Given the description of an element on the screen output the (x, y) to click on. 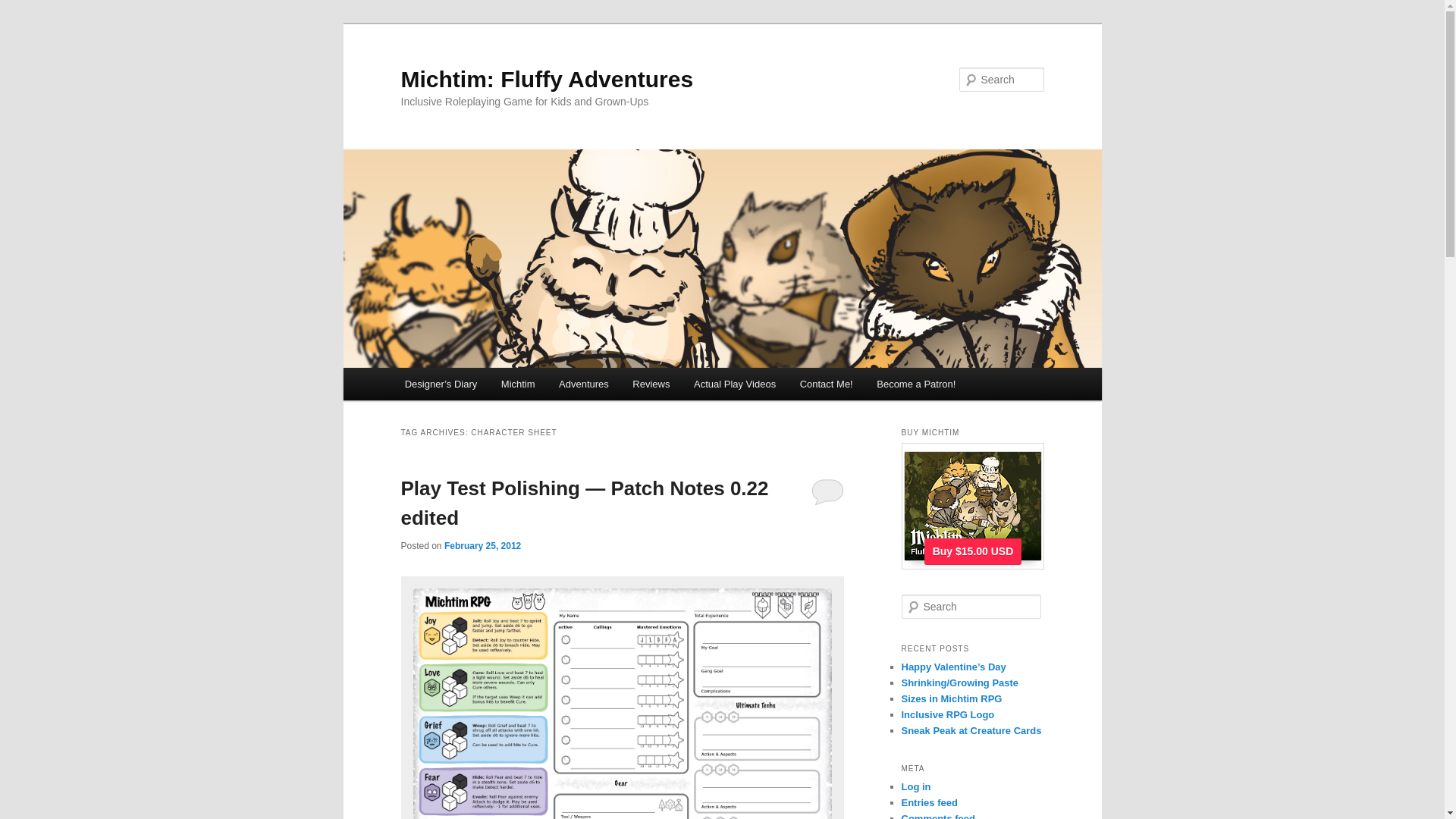
Adventures (583, 383)
Reviews (651, 383)
Actual Play Videos (734, 383)
Michtim: Fluffy Adventures (546, 78)
Contact Me! (825, 383)
Michtim (518, 383)
15:31 (482, 545)
Become a Patron! (916, 383)
Search (24, 8)
February 25, 2012 (482, 545)
